Given the description of an element on the screen output the (x, y) to click on. 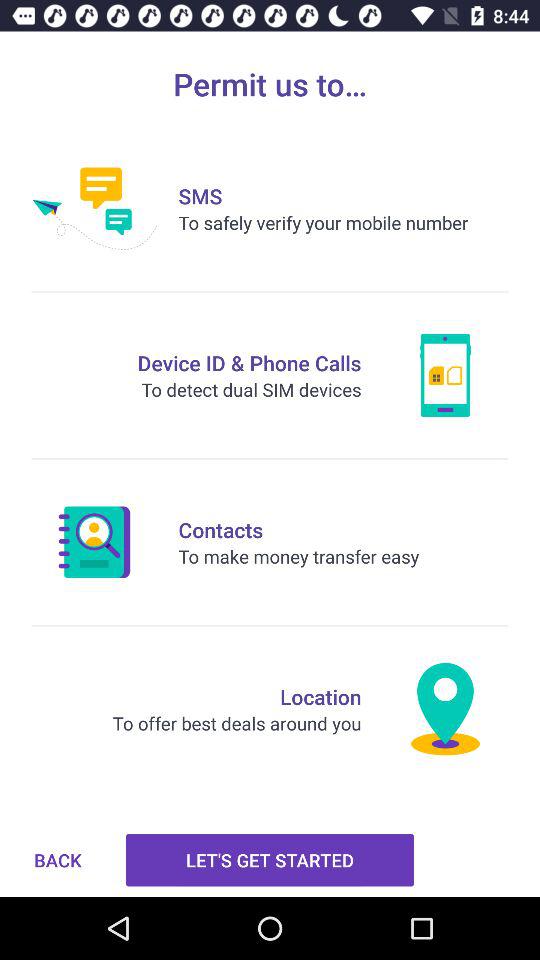
choose the let s get icon (269, 859)
